Given the description of an element on the screen output the (x, y) to click on. 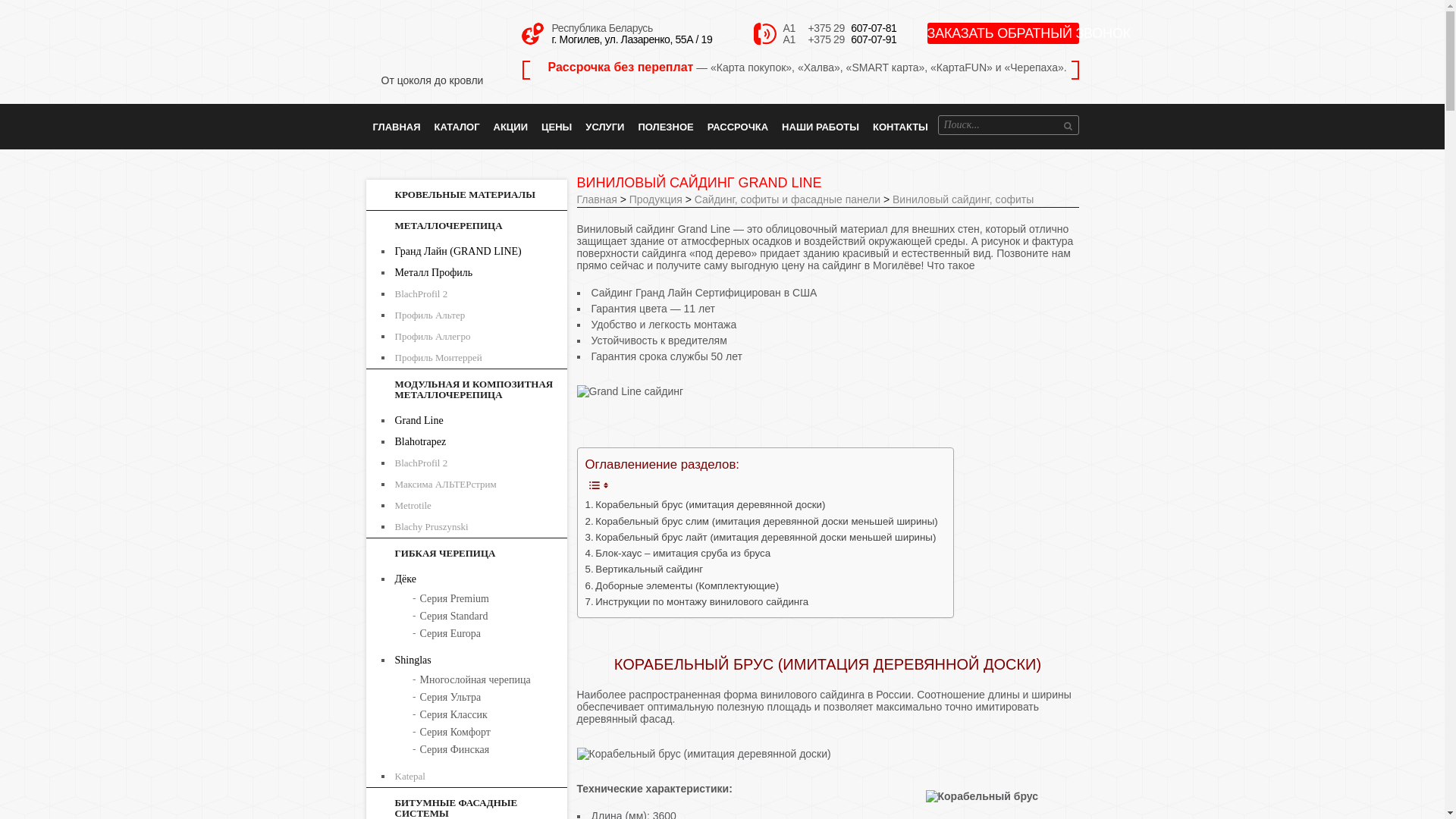
Blahotrapez Element type: text (479, 441)
Shinglas Element type: text (479, 660)
Katepal Element type: text (479, 776)
Blachy Pruszynski Element type: text (479, 526)
BlachProfil 2 Element type: text (479, 293)
BlachProfil 2 Element type: text (479, 462)
Grand Line Element type: text (479, 420)
Metrotile Element type: text (479, 505)
